Given the description of an element on the screen output the (x, y) to click on. 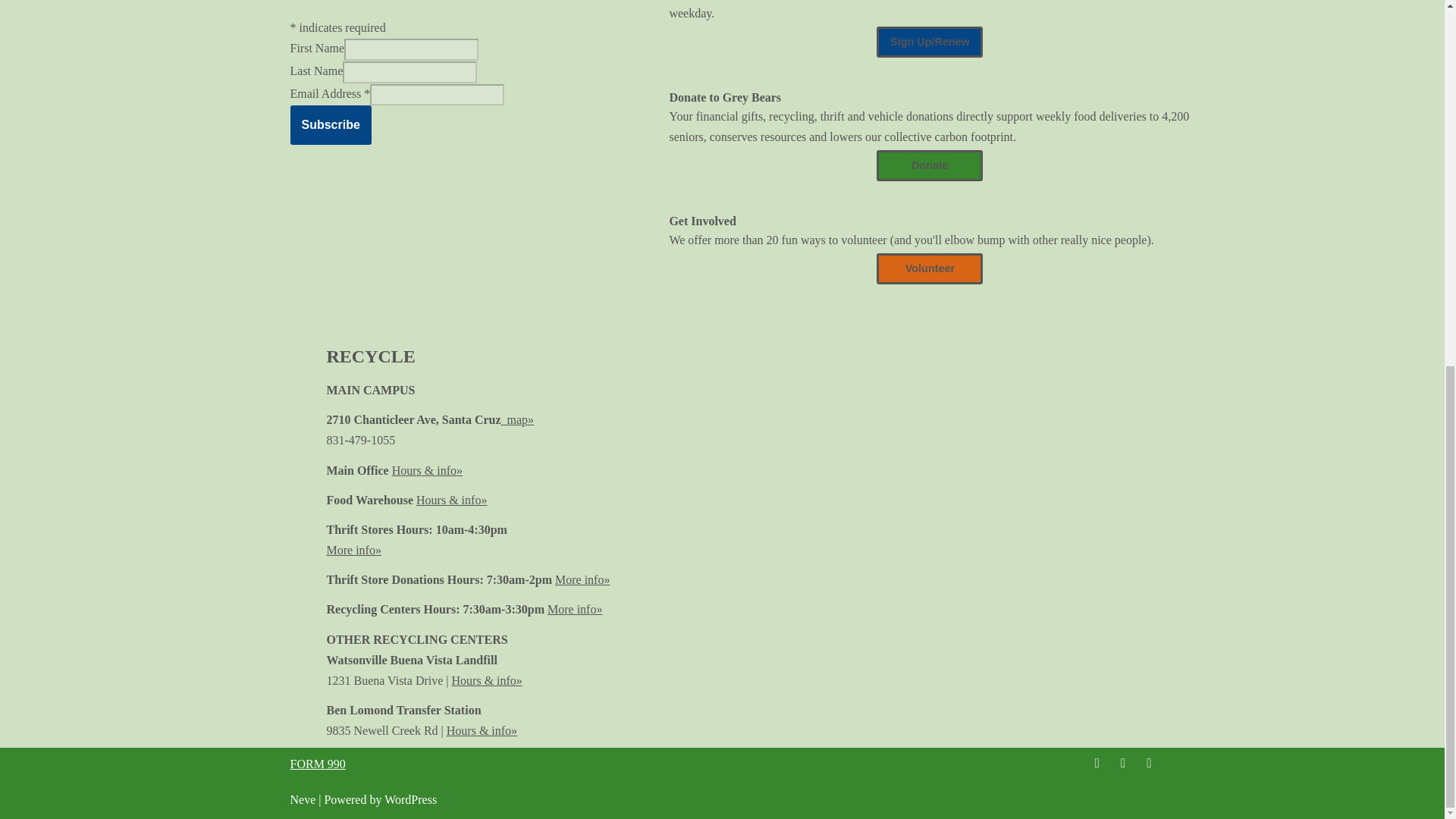
Subscribe (330, 124)
